Given the description of an element on the screen output the (x, y) to click on. 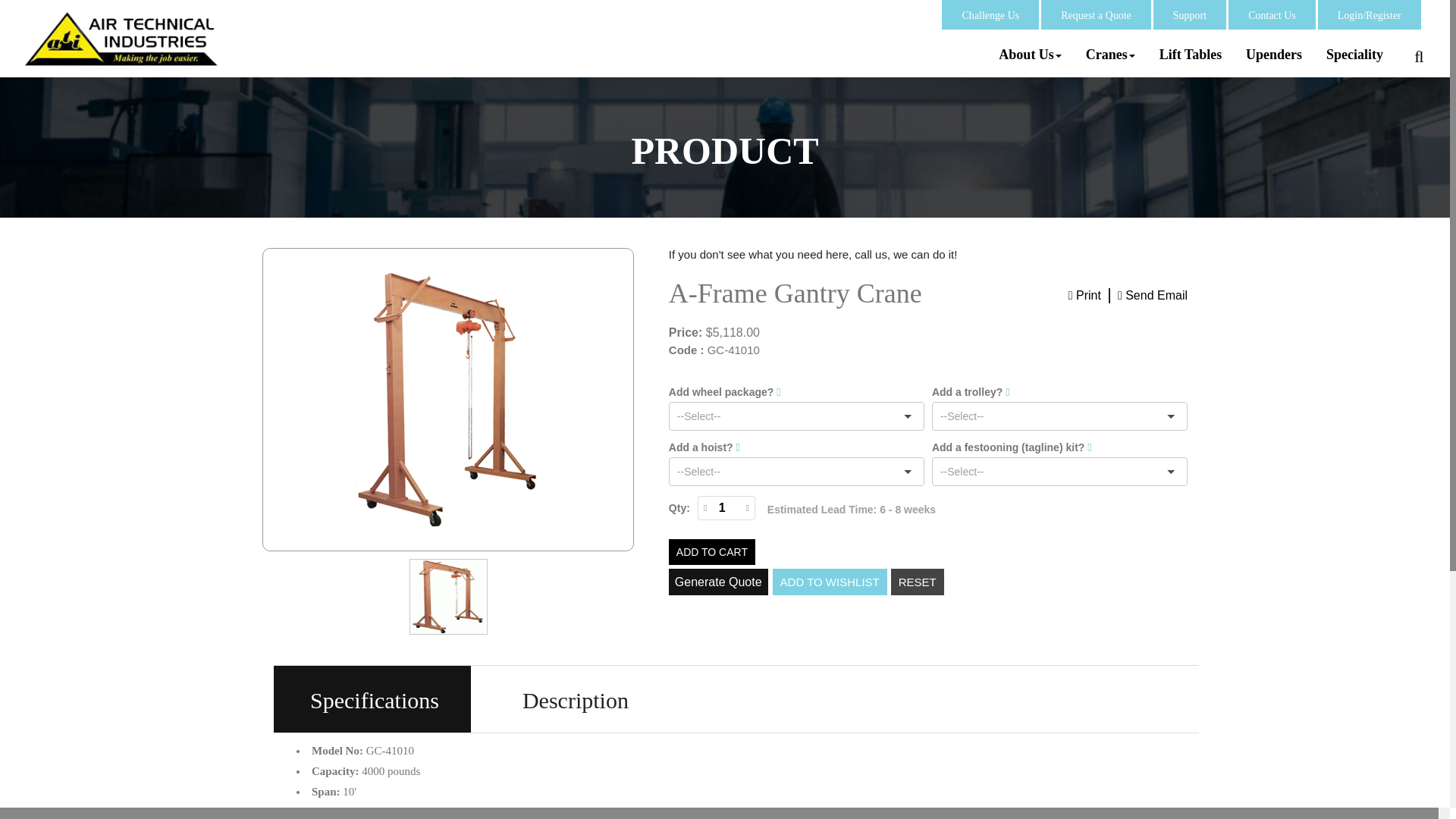
Cranes (1110, 54)
1 (721, 507)
About Us (1029, 54)
Contact Us (1271, 15)
Estimated Lead Time (851, 509)
Speciality (1354, 54)
Challenge Us (989, 15)
Support (1190, 15)
Lift Tables (1190, 54)
Request a Quote (1096, 15)
Upenders (1273, 54)
